Given the description of an element on the screen output the (x, y) to click on. 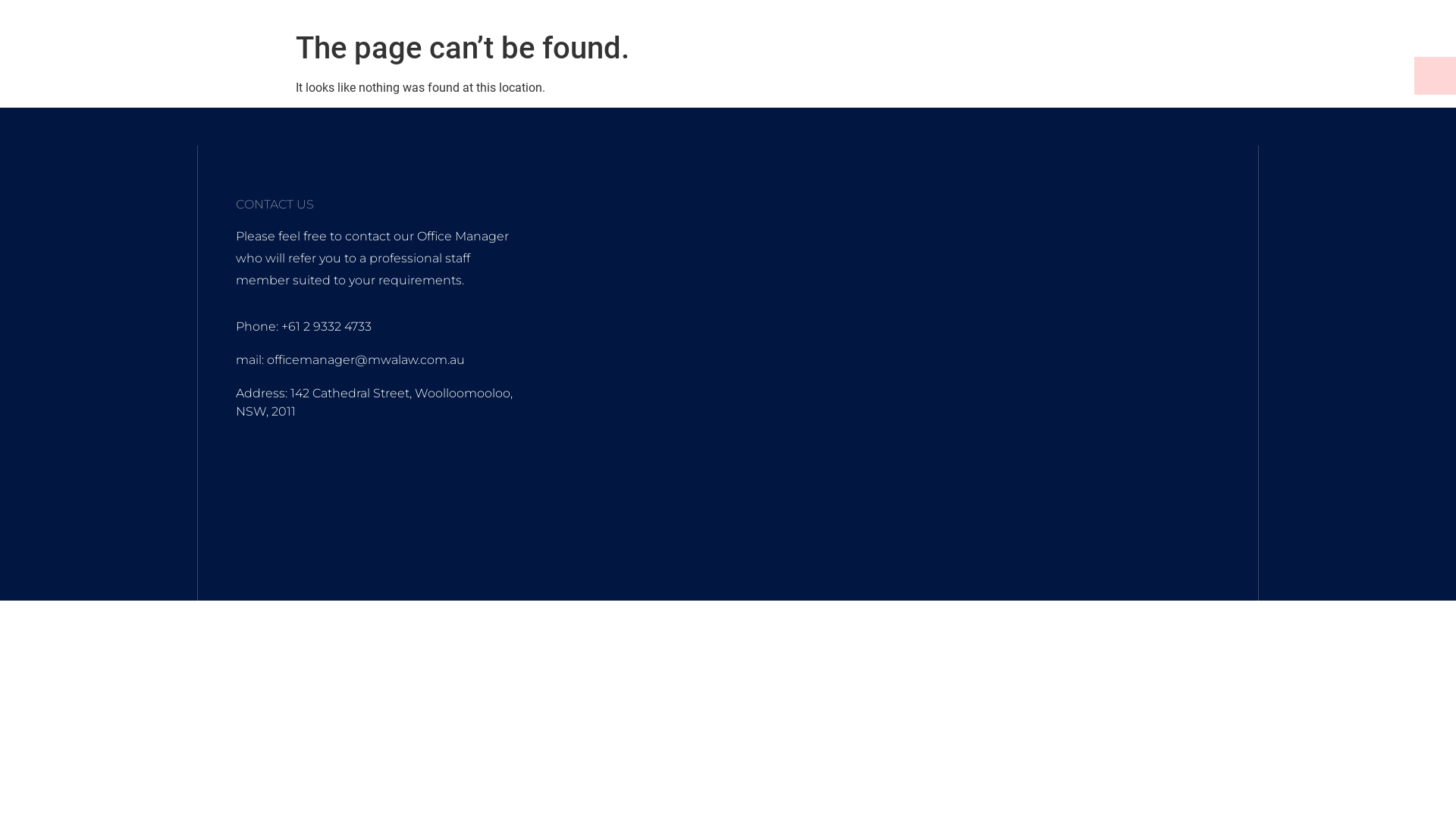
mwa lawyers Element type: hover (906, 387)
